Given the description of an element on the screen output the (x, y) to click on. 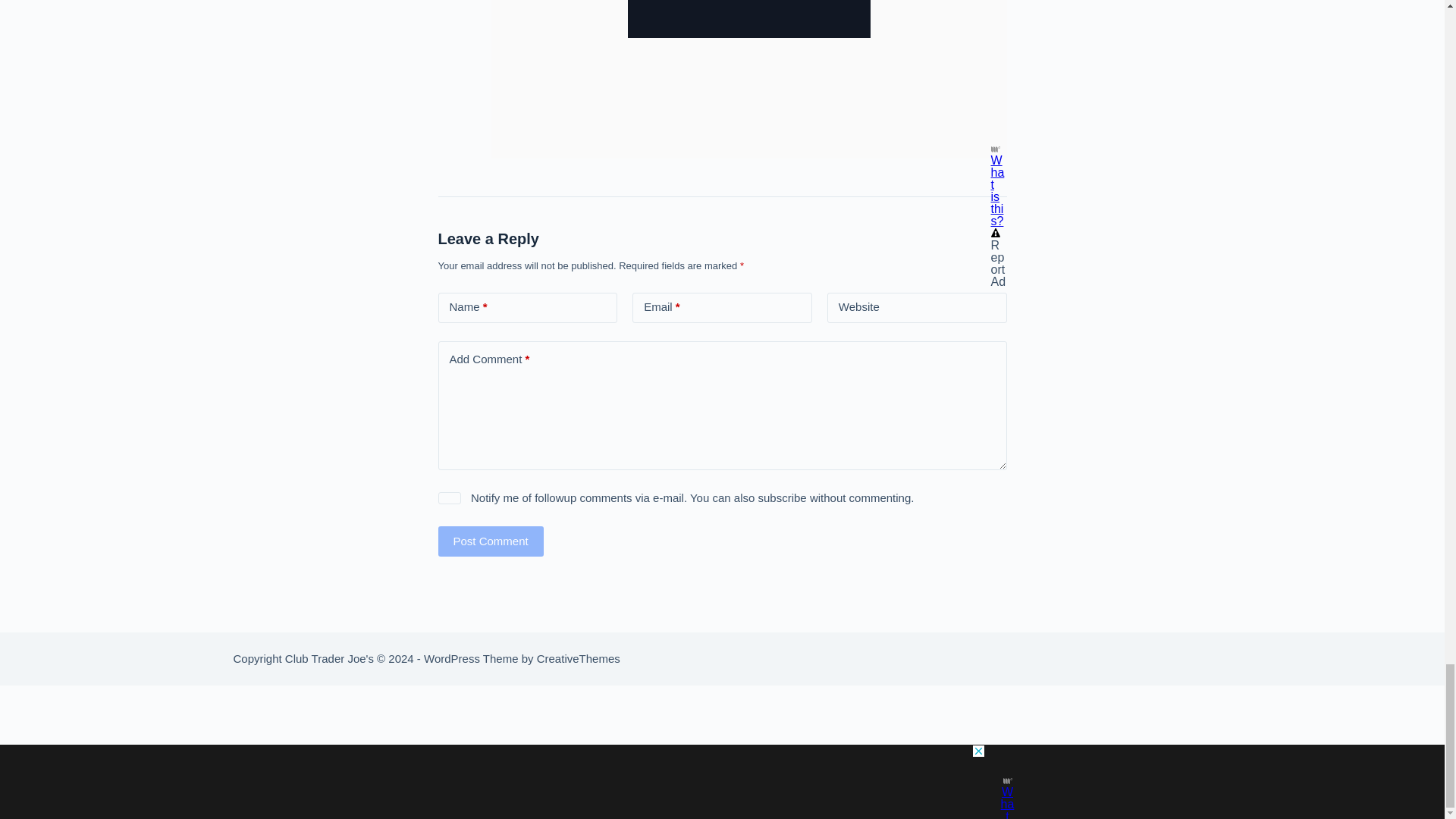
yes (449, 498)
